Given the description of an element on the screen output the (x, y) to click on. 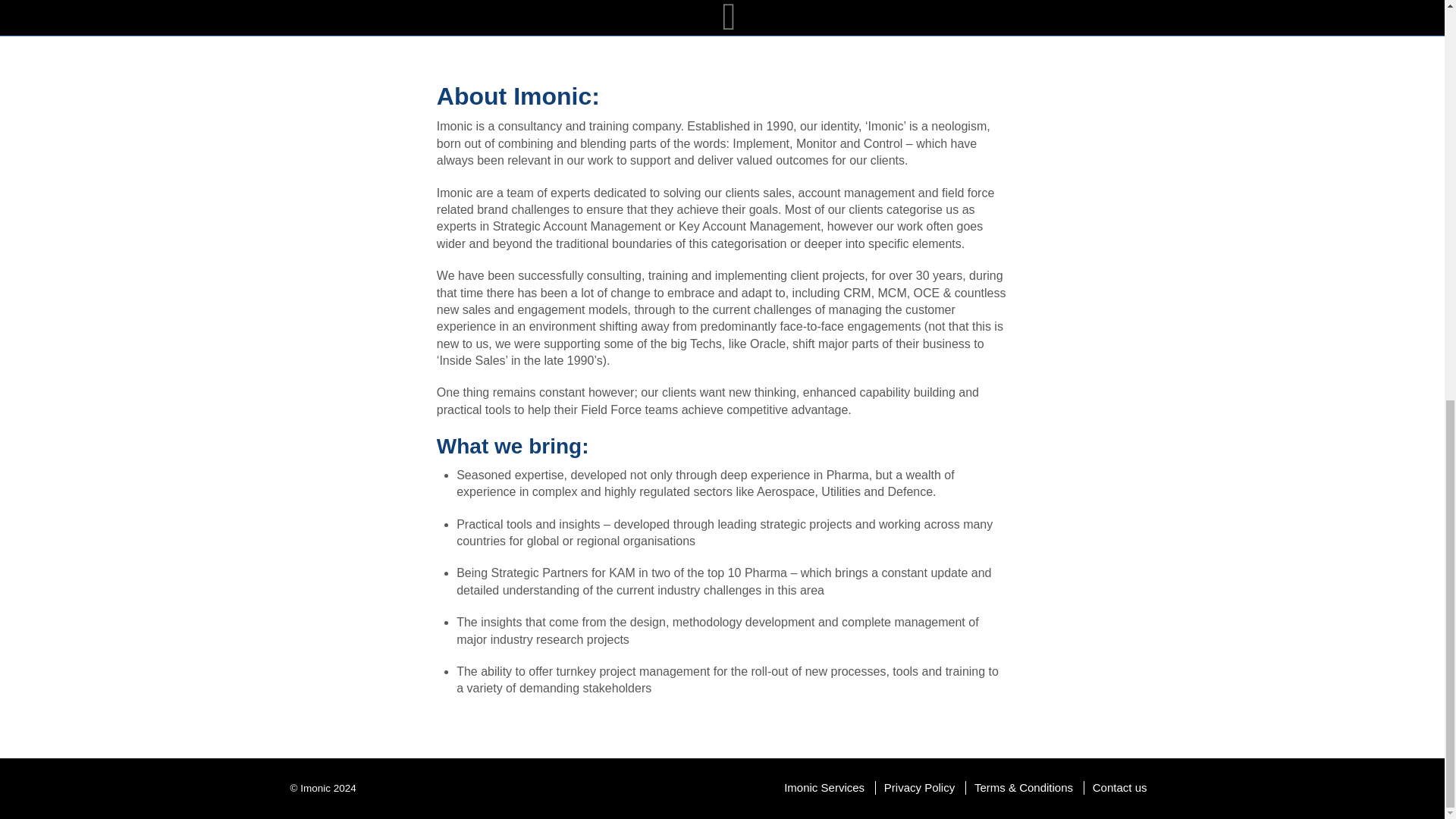
Contact us (1118, 787)
Privacy Policy (918, 787)
Imonic Services (828, 787)
